Given the description of an element on the screen output the (x, y) to click on. 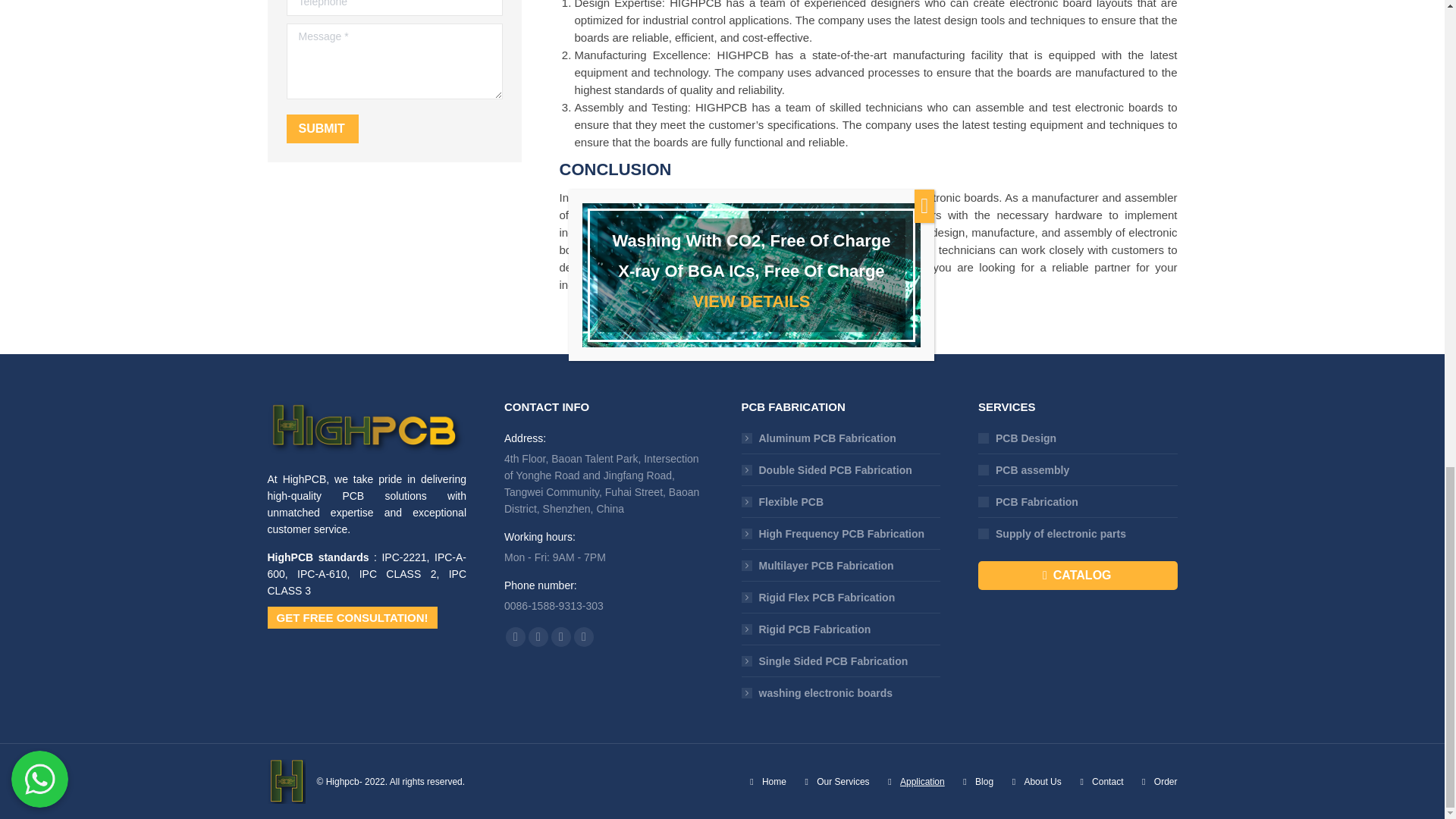
submit (403, 130)
